Given the description of an element on the screen output the (x, y) to click on. 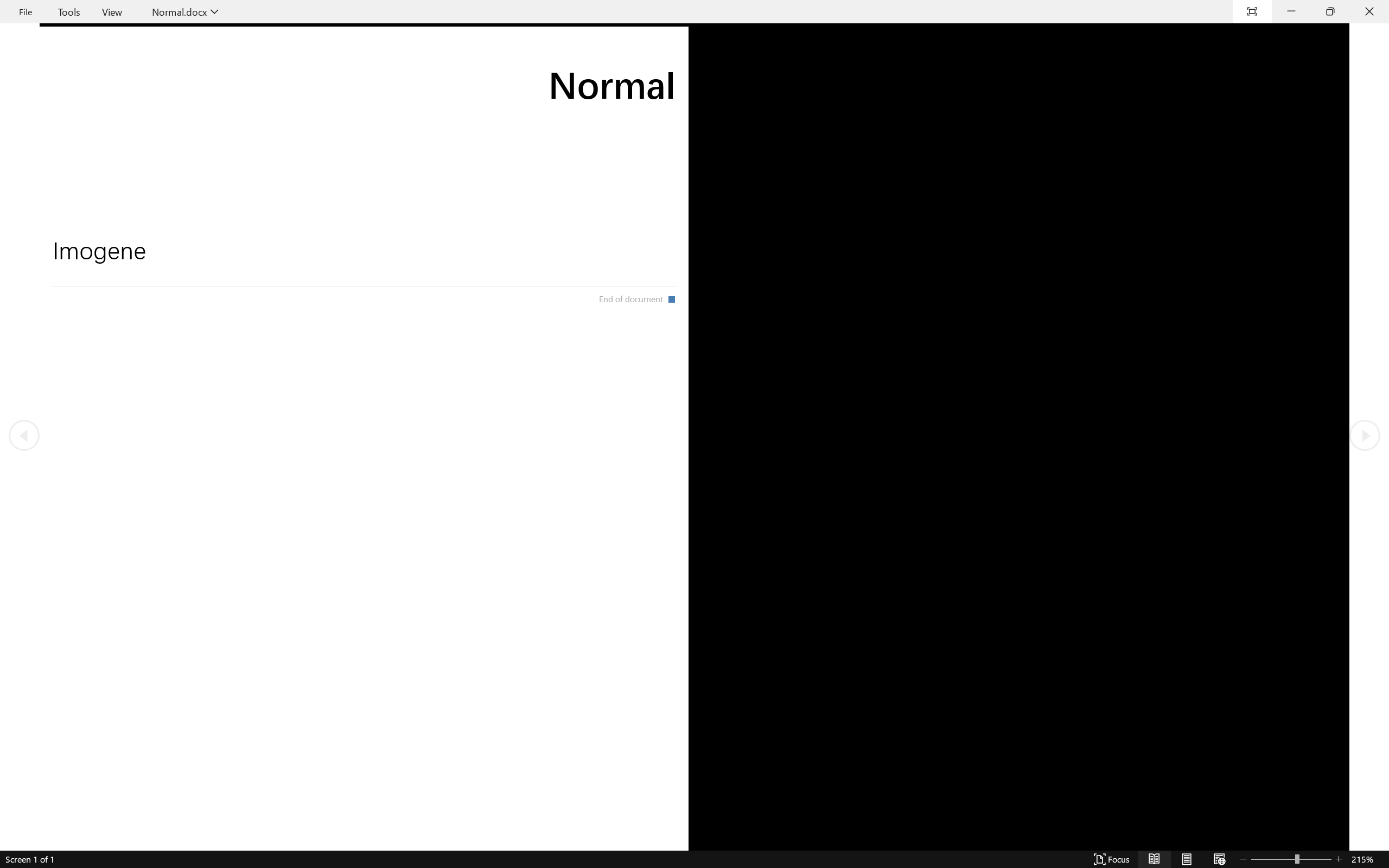
Bold (174, 71)
Zoom 95% (1364, 837)
Cut (39, 47)
Quick Styles (625, 62)
Isosceles Triangle (528, 60)
Arrange (600, 62)
Right Brace (572, 72)
Distributed (385, 71)
Shadow (212, 71)
